Given the description of an element on the screen output the (x, y) to click on. 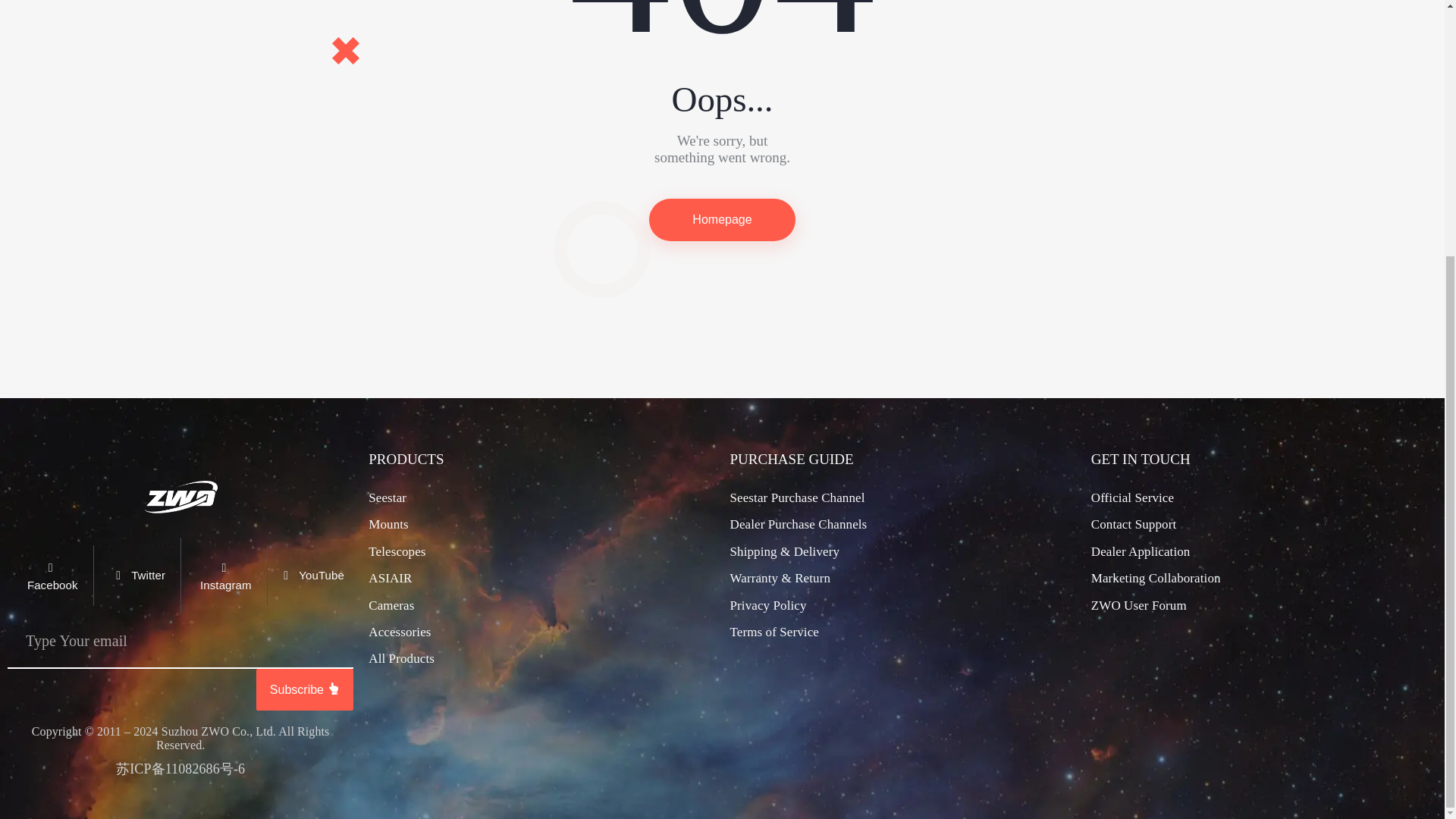
Seestar (387, 498)
Twitter (136, 575)
Subscribe (304, 690)
Instagram (223, 575)
Facebook (50, 575)
YouTube (309, 575)
Homepage (721, 219)
